Given the description of an element on the screen output the (x, y) to click on. 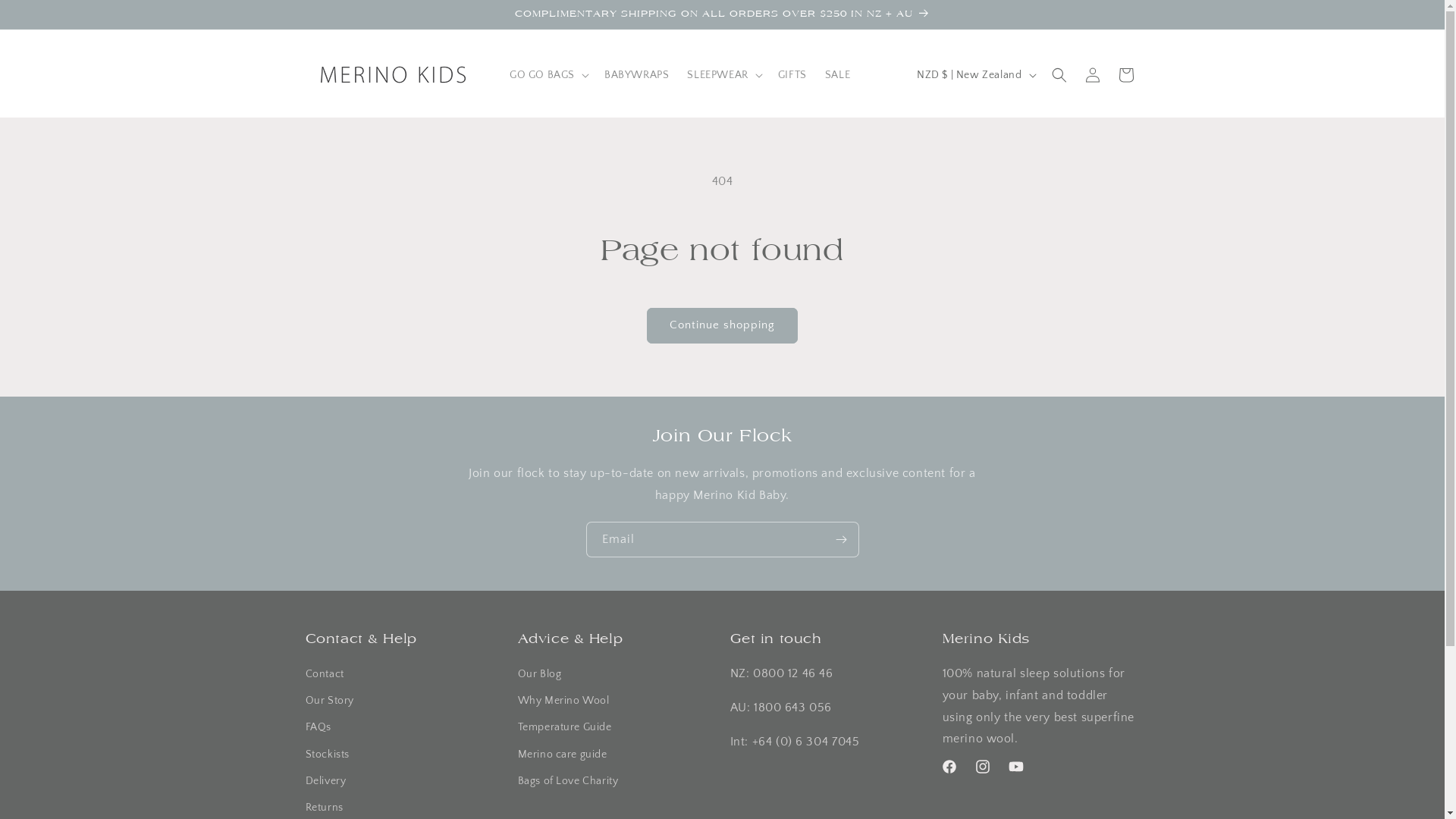
Stockists Element type: text (326, 754)
COMPLIMENTARY SHIPPING ON ALL ORDERS OVER $250 IN NZ + AU Element type: text (721, 14)
Contact Element type: text (323, 676)
NZD $ | New Zealand Element type: text (974, 74)
Temperature Guide Element type: text (564, 727)
Continue shopping Element type: text (721, 325)
BABYWRAPS Element type: text (636, 75)
Bags of Love Charity Element type: text (567, 781)
GIFTS Element type: text (791, 75)
Facebook Element type: text (949, 766)
FAQs Element type: text (317, 727)
Merino care guide Element type: text (561, 754)
YouTube Element type: text (1015, 766)
Delivery Element type: text (324, 781)
Our Blog Element type: text (539, 676)
Our Story Element type: text (328, 700)
Log in Element type: text (1091, 74)
SALE Element type: text (837, 75)
Cart Element type: text (1125, 74)
Why Merino Wool Element type: text (562, 700)
Instagram Element type: text (982, 766)
